Given the description of an element on the screen output the (x, y) to click on. 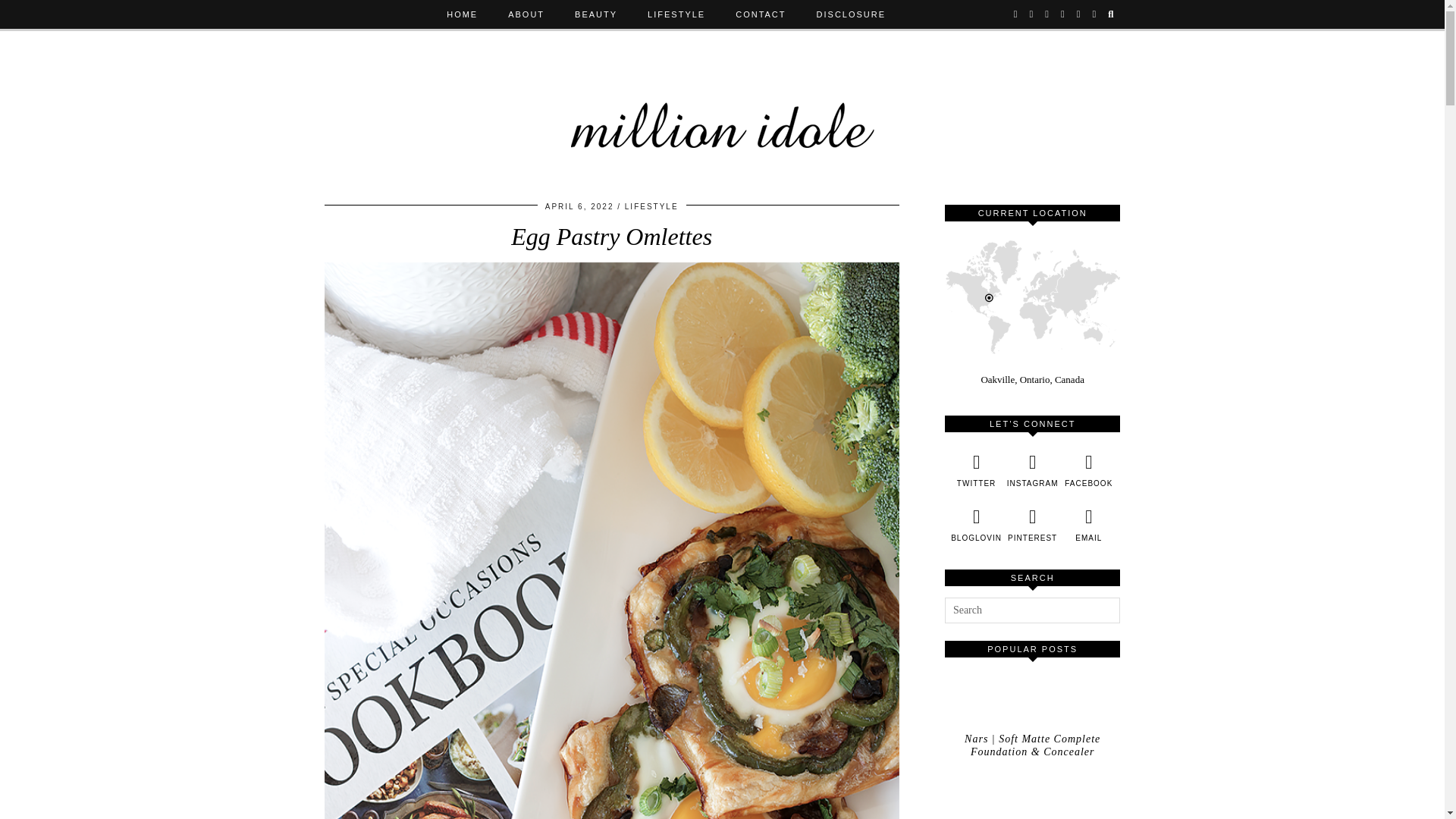
BEAUTY (595, 14)
HOME (461, 14)
LIFESTYLE (675, 14)
Million Idole (722, 111)
ABOUT (526, 14)
